Given the description of an element on the screen output the (x, y) to click on. 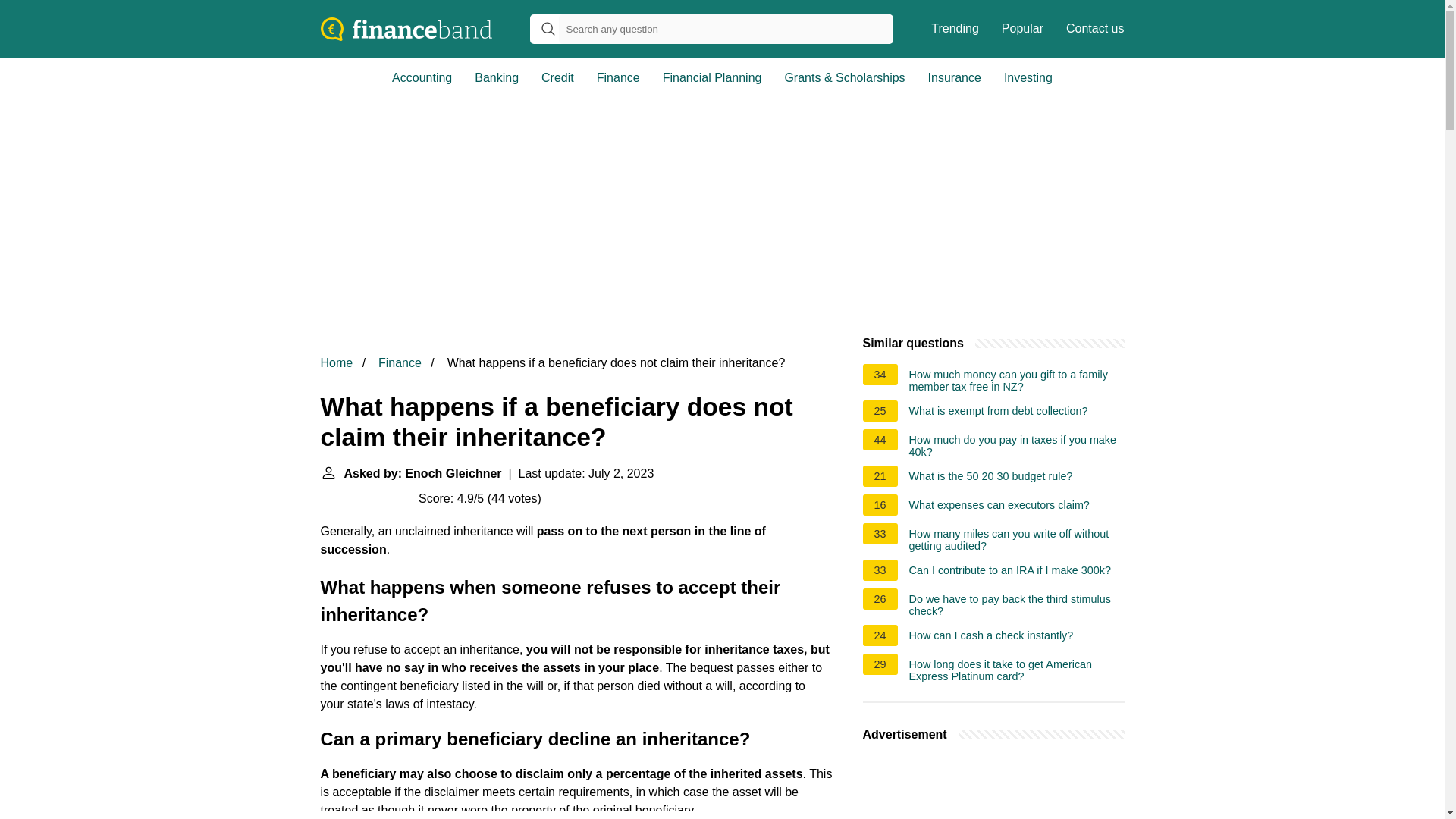
Trending (954, 28)
Investing (1028, 77)
Accounting (421, 77)
How long does it take to get American Express Platinum card? (1016, 670)
What expenses can executors claim? (998, 506)
Home (336, 362)
How many miles can you write off without getting audited? (1016, 539)
Finance (400, 362)
What is exempt from debt collection? (997, 412)
Financial Planning (711, 77)
Can I contribute to an IRA if I make 300k? (1009, 572)
Insurance (954, 77)
What is the 50 20 30 budget rule? (990, 478)
How can I cash a check instantly? (991, 637)
